Given the description of an element on the screen output the (x, y) to click on. 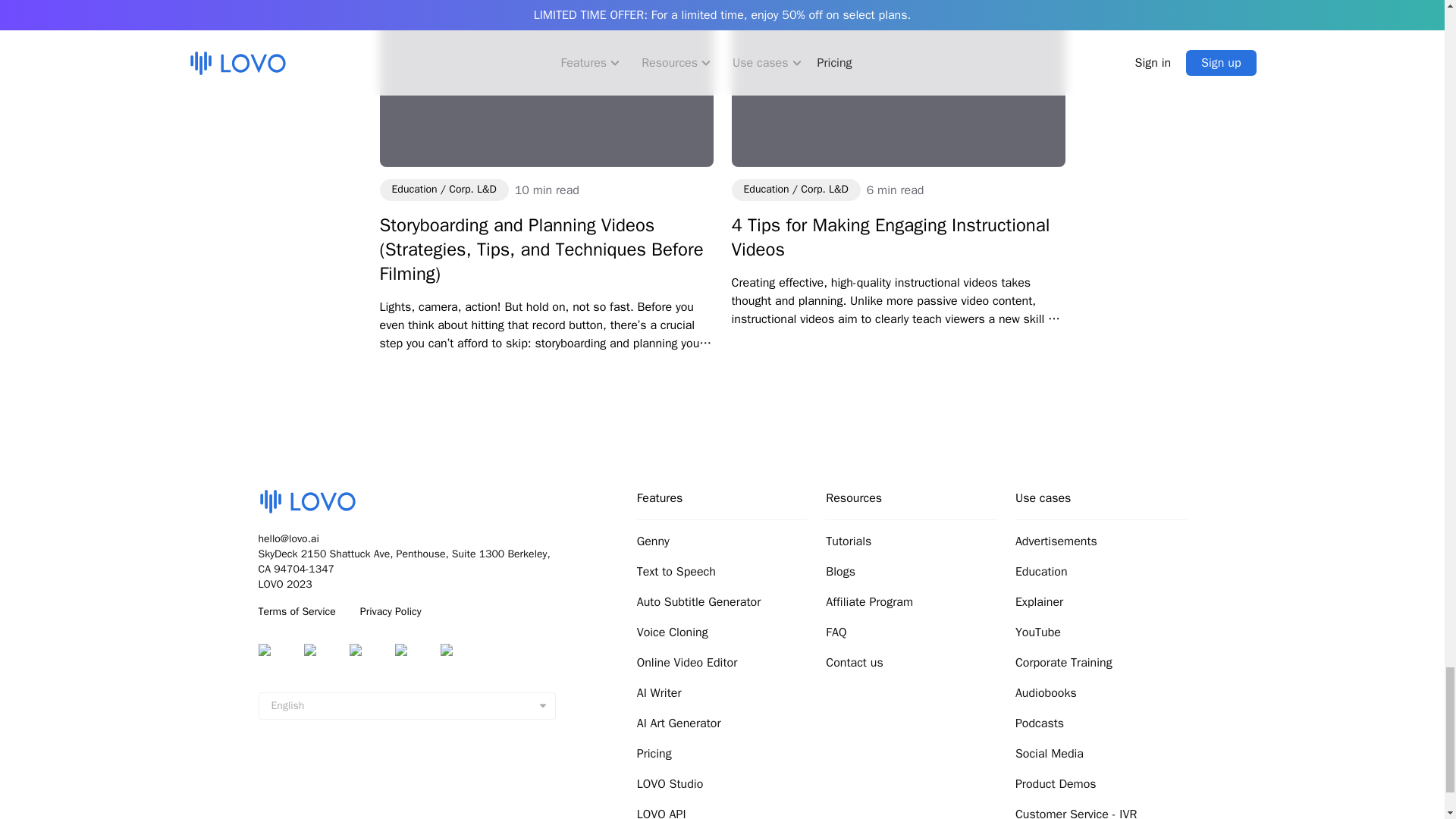
Privacy Policy (390, 611)
Terms of Service (295, 611)
